Given the description of an element on the screen output the (x, y) to click on. 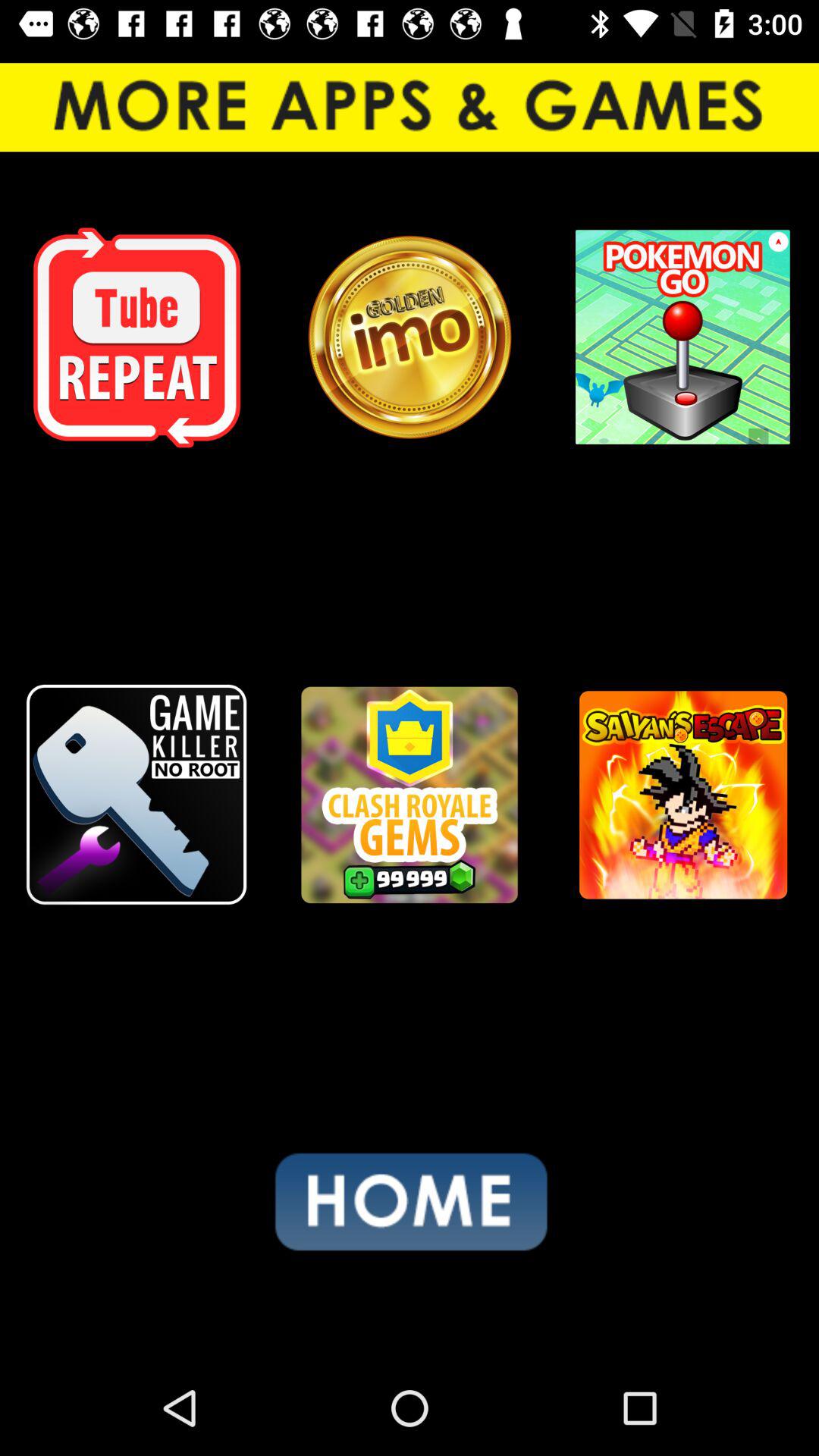
pokemon go app (682, 337)
